Given the description of an element on the screen output the (x, y) to click on. 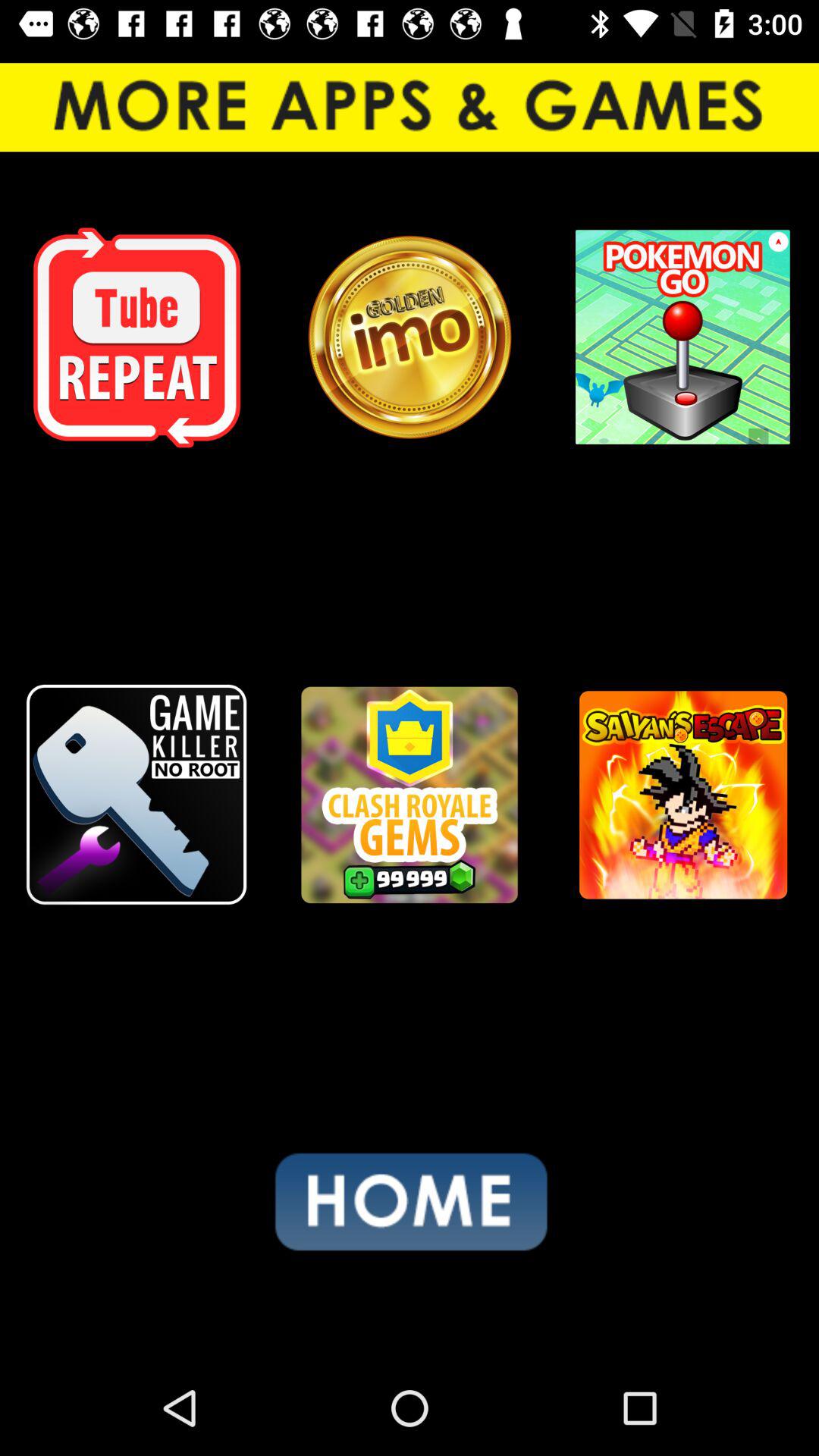
pokemon go app (682, 337)
